Given the description of an element on the screen output the (x, y) to click on. 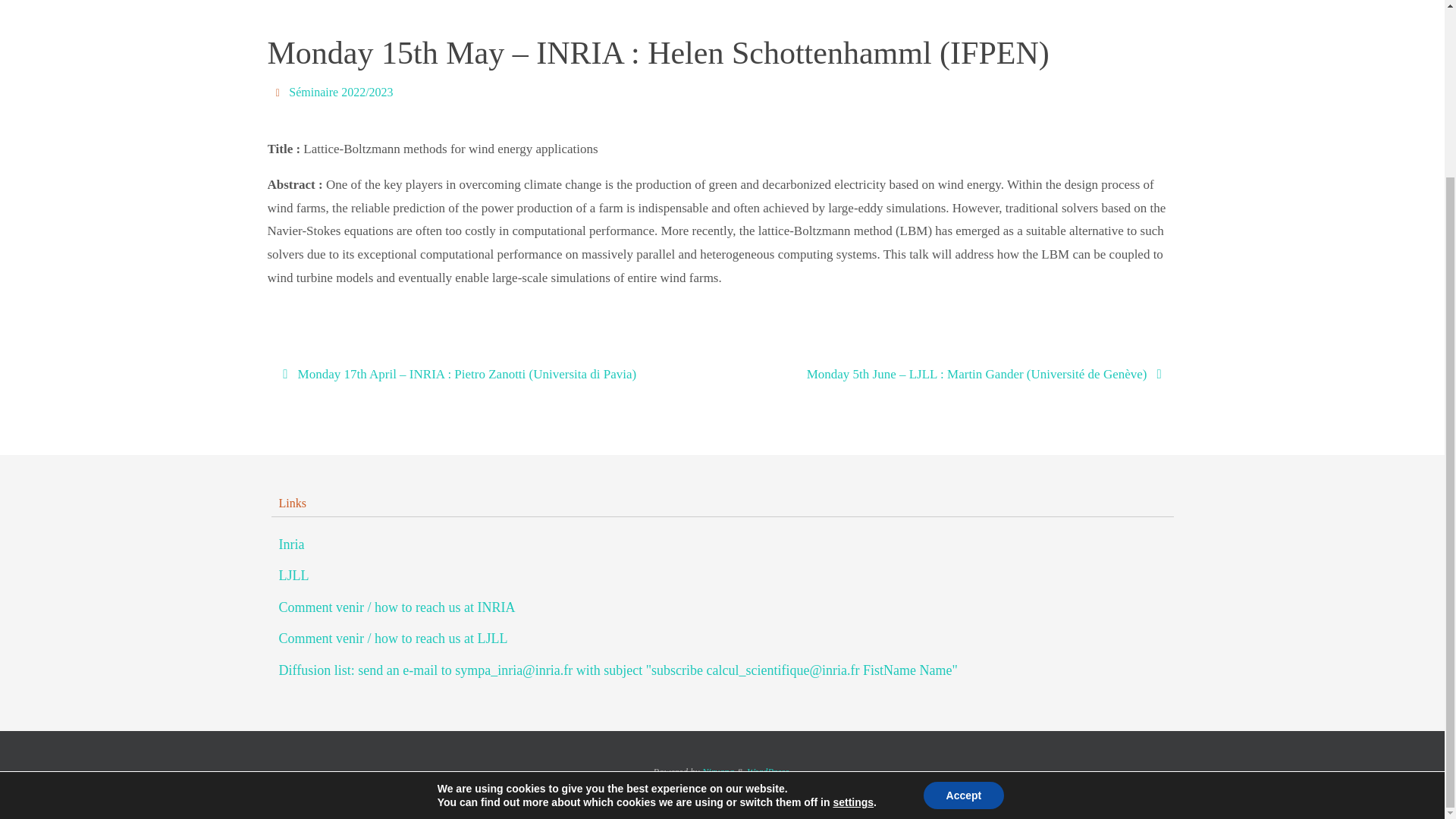
LJLL (293, 575)
Semantic Personal Publishing Platform (769, 771)
Inria (291, 544)
Accept (963, 578)
Nirvana Theme by Cryout Creations (718, 771)
settings (852, 585)
Nirvana (718, 771)
WordPress. (769, 771)
Categories (278, 91)
